Given the description of an element on the screen output the (x, y) to click on. 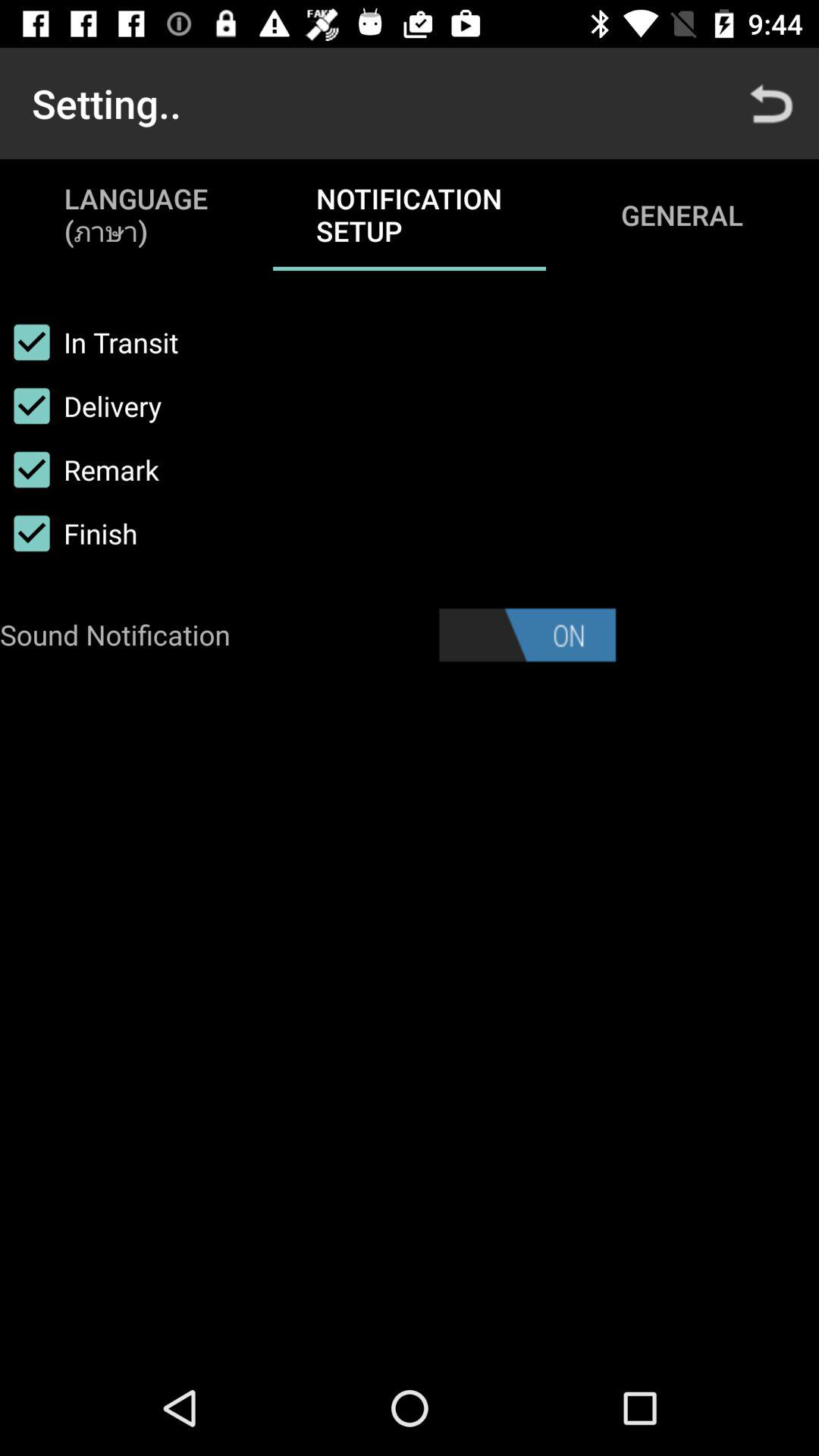
scroll to delivery item (80, 405)
